Given the description of an element on the screen output the (x, y) to click on. 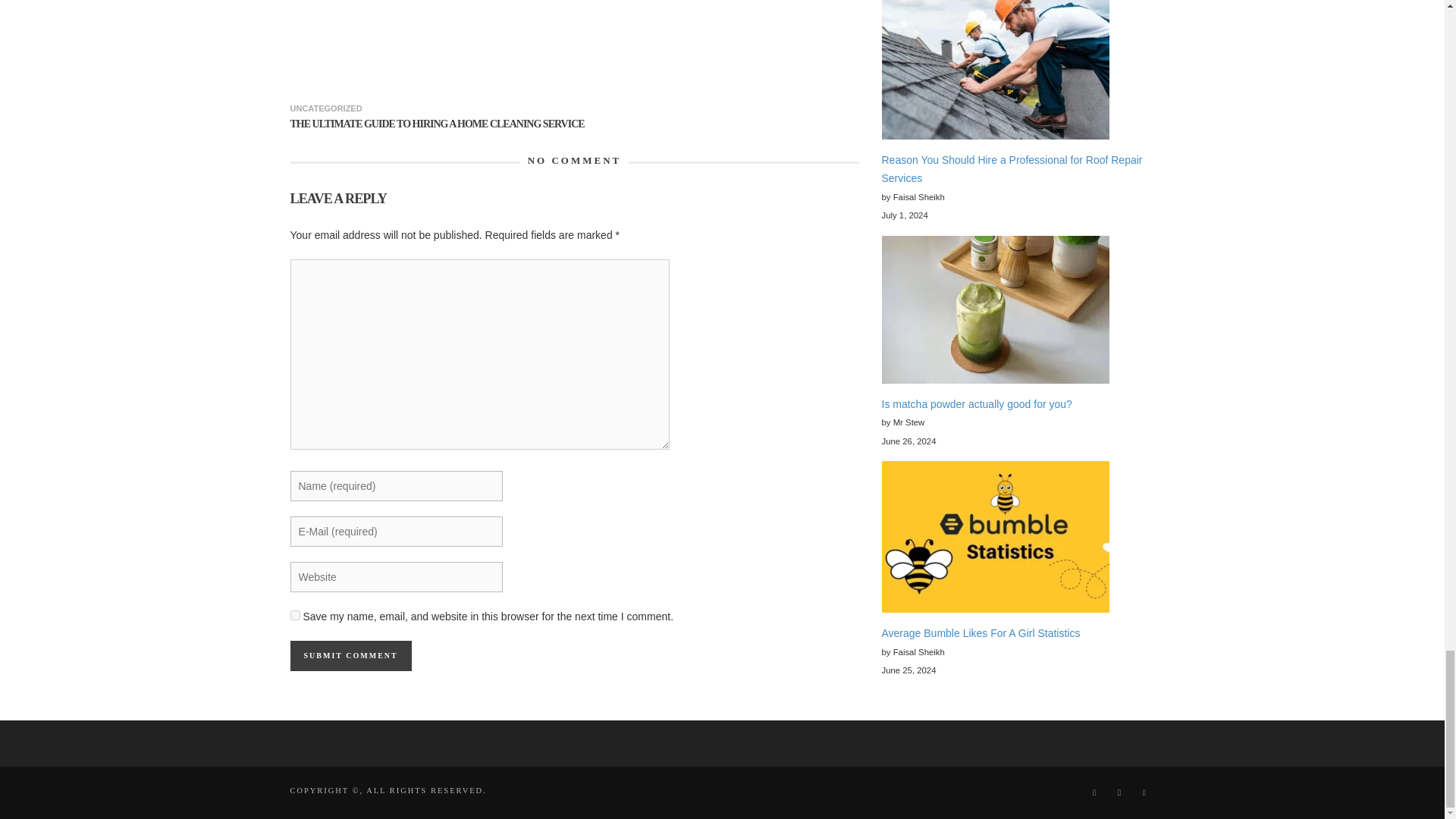
Submit comment (349, 655)
yes (294, 614)
Facebook (1093, 792)
Twitter (1144, 792)
